Given the description of an element on the screen output the (x, y) to click on. 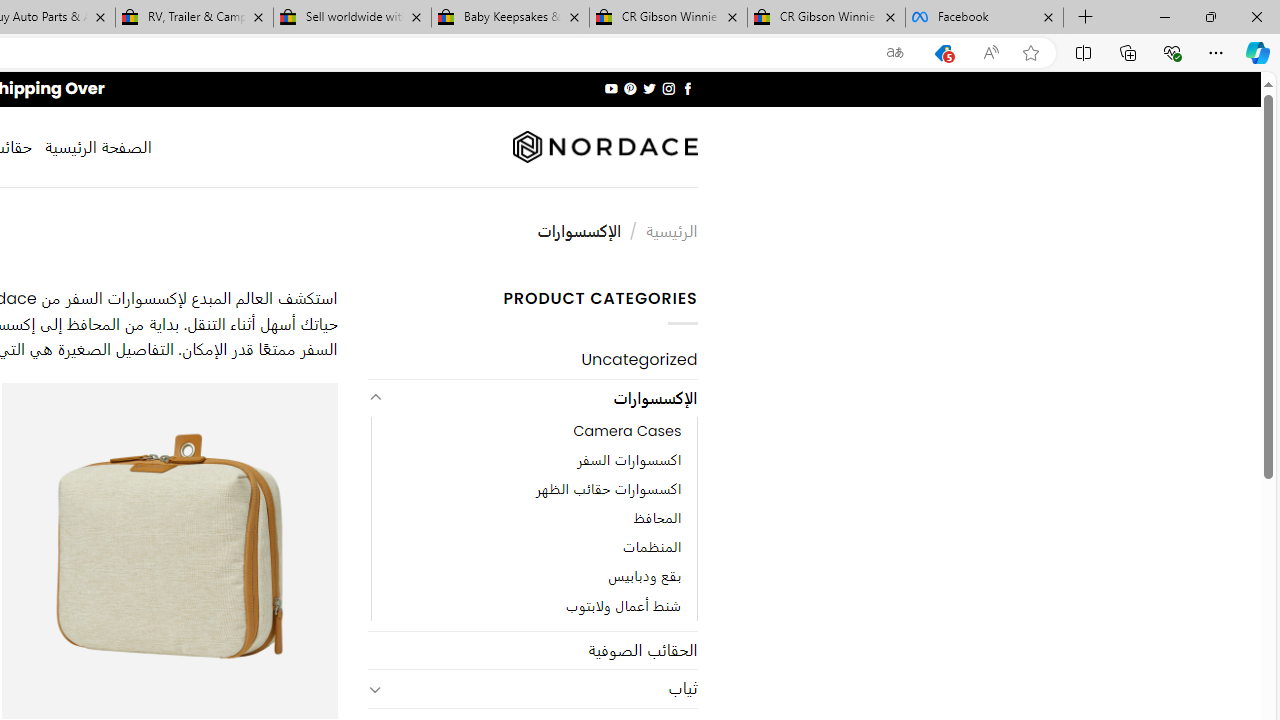
Split screen (1083, 52)
Close (1256, 16)
Sell worldwide with eBay (352, 17)
Uncategorized (532, 359)
Collections (1128, 52)
Show translate options (895, 53)
RV, Trailer & Camper Steps & Ladders for sale | eBay (194, 17)
